Given the description of an element on the screen output the (x, y) to click on. 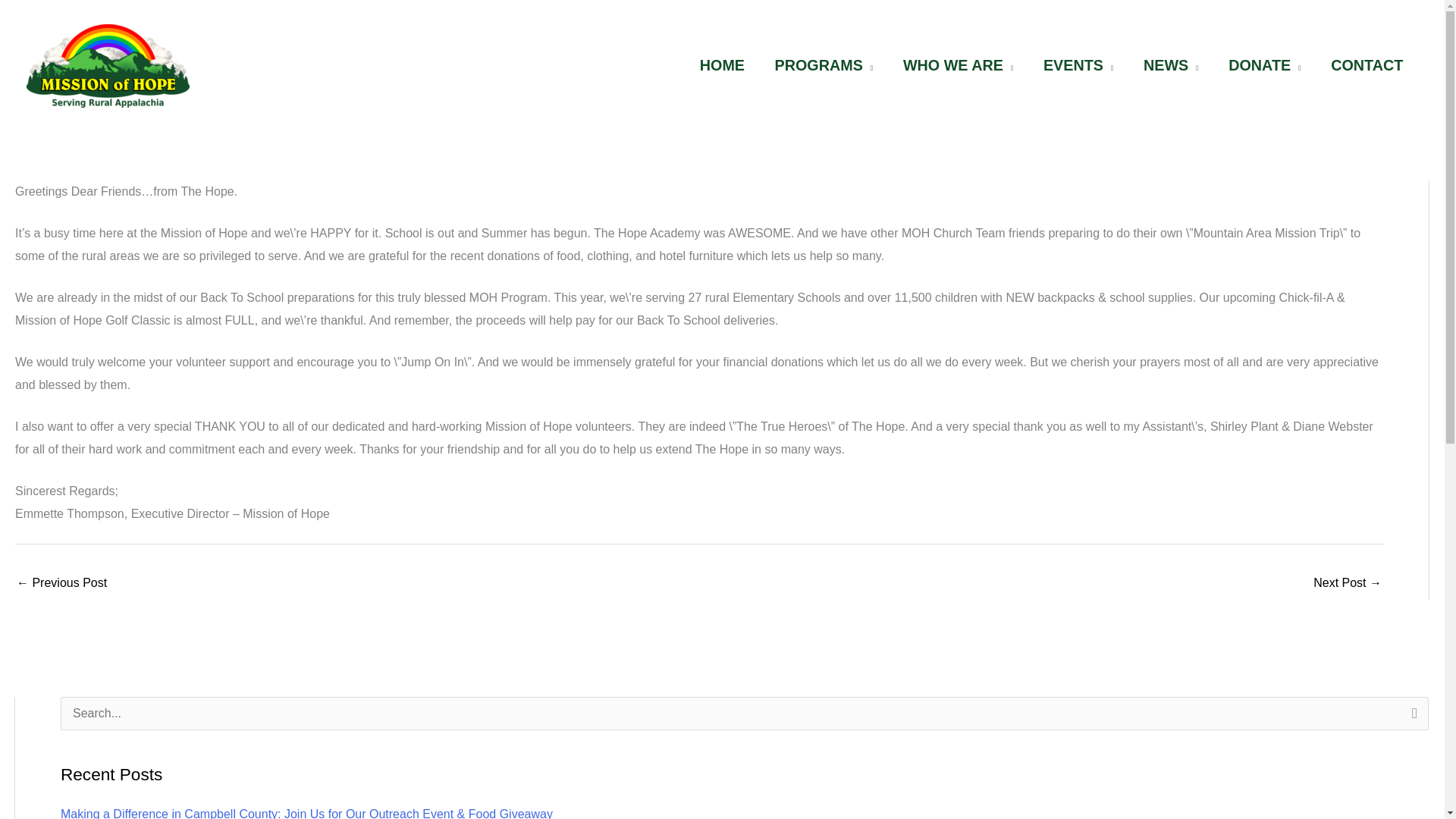
HOME (722, 65)
DONATE (1264, 65)
Handicap Ramps Needed Desperately...Will You Help Us? (61, 584)
NEWS (1170, 65)
CONTACT (1367, 65)
PROGRAMS (824, 65)
Golf Classic Special Sponsor Opportunity (1347, 584)
WHO WE ARE (957, 65)
EVENTS (1077, 65)
